Given the description of an element on the screen output the (x, y) to click on. 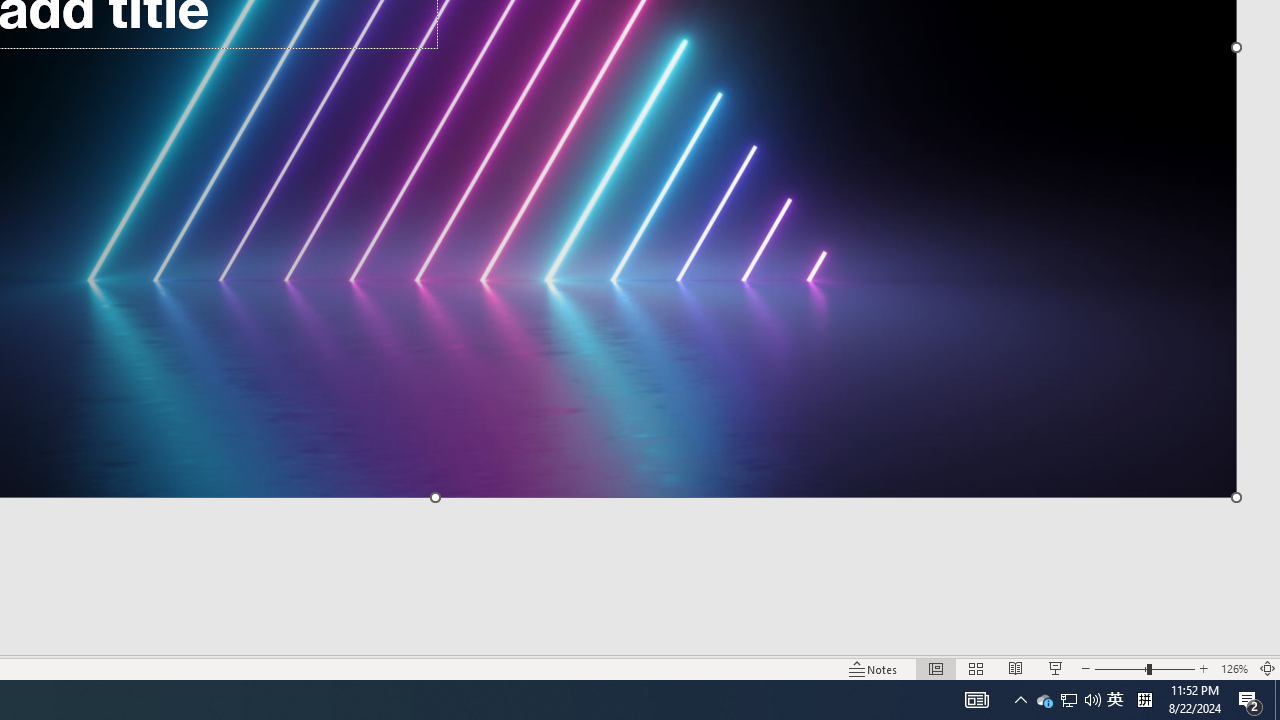
Zoom 126% (1234, 668)
